Given the description of an element on the screen output the (x, y) to click on. 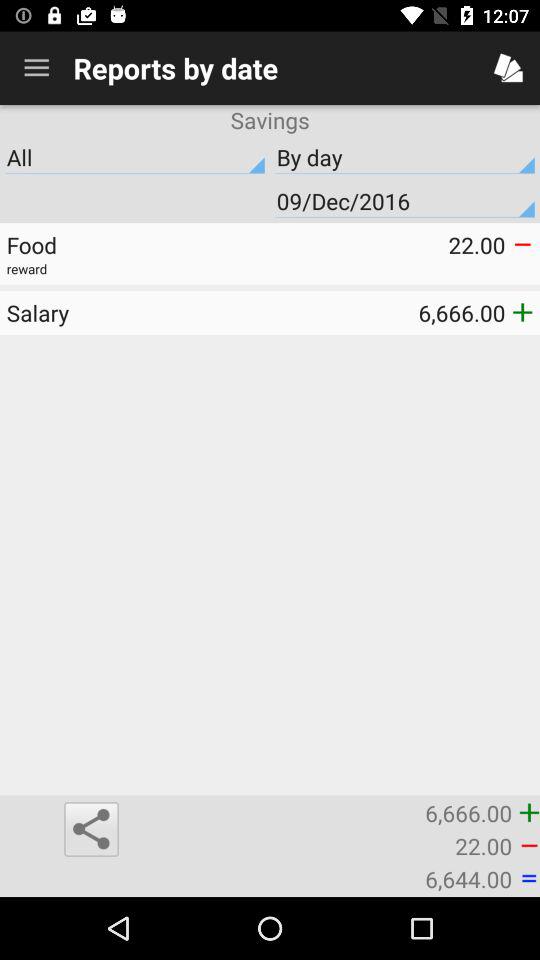
click salary icon (138, 312)
